Given the description of an element on the screen output the (x, y) to click on. 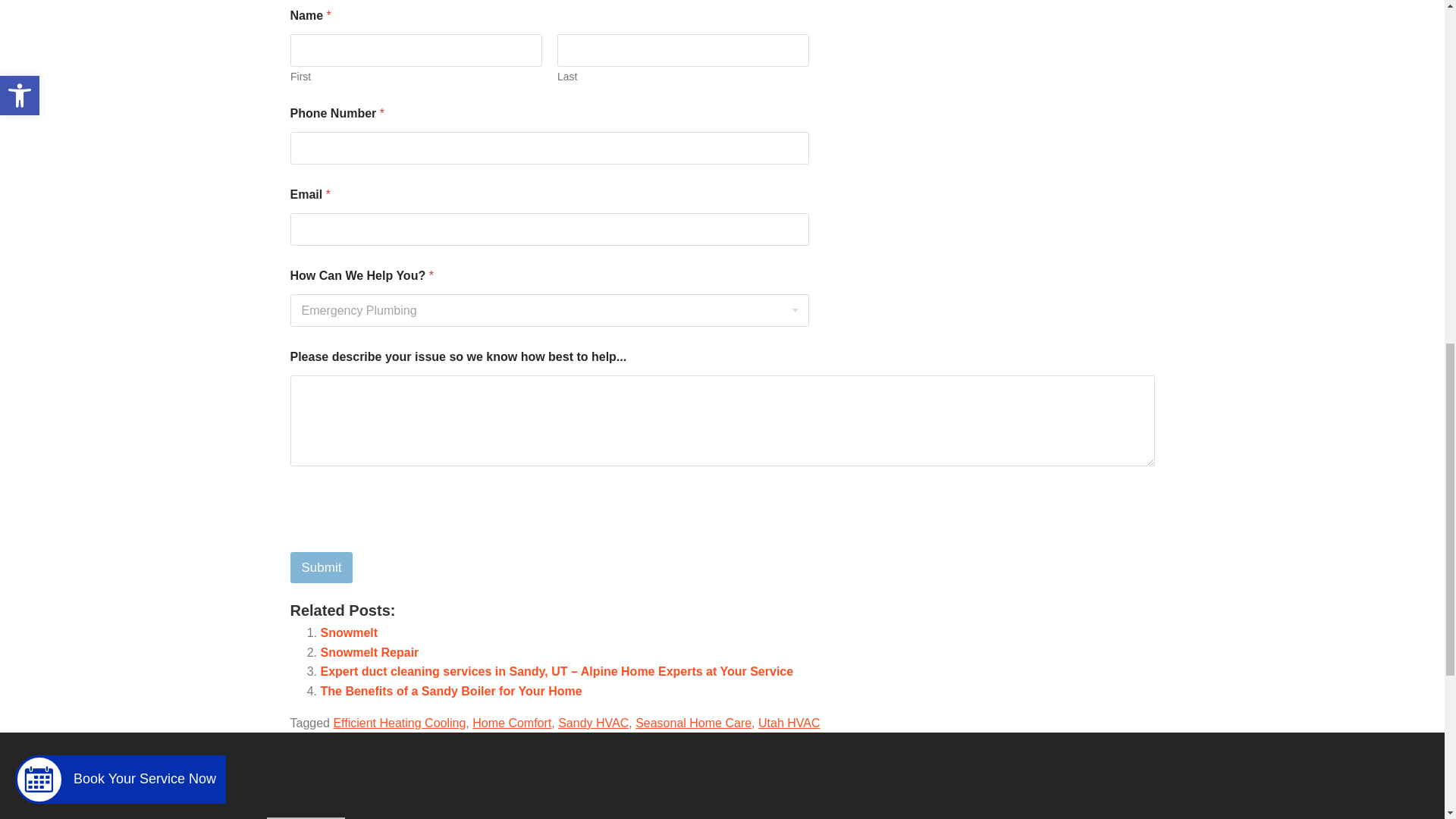
Home Comfort (511, 722)
Snowmelt (348, 632)
The Benefits of a Sandy Boiler for Your Home (450, 690)
Snowmelt (348, 632)
Snowmelt Repair (369, 652)
Snowmelt Repair (369, 652)
The Benefits of a Sandy Boiler for Your Home (450, 690)
Efficient Heating Cooling (399, 722)
Submit (320, 567)
reCAPTCHA (404, 541)
